Given the description of an element on the screen output the (x, y) to click on. 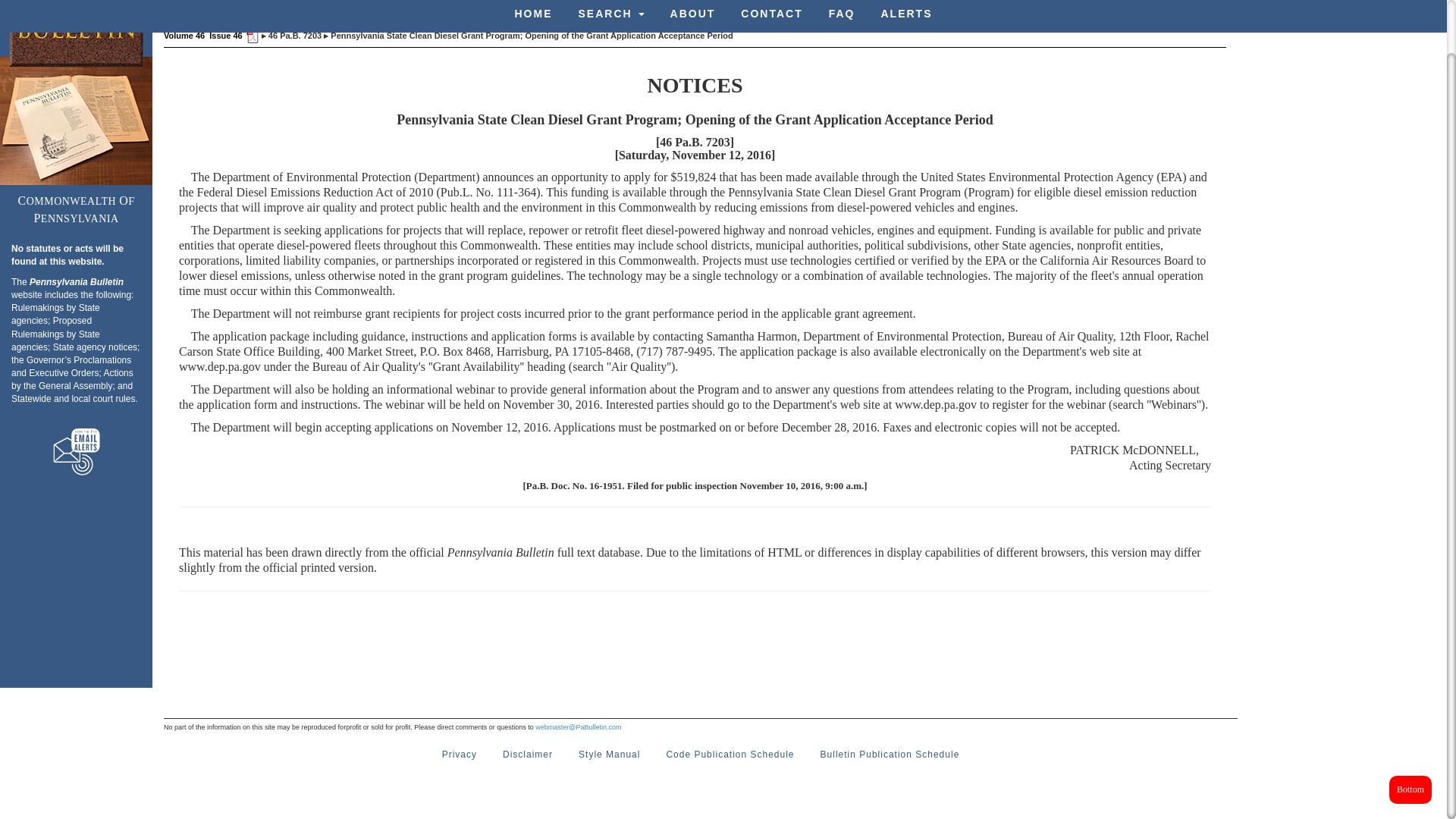
Volume 46  Issue 46 (203, 35)
Return to Search (774, 8)
Return to Search (774, 8)
Disclaimer (528, 754)
Resize Screen (884, 8)
Next Bulletin (705, 8)
Code Publication Schedule (729, 754)
Previous Doc (586, 8)
Next Doc (646, 8)
Next Bulletin (705, 8)
Bottom (1410, 732)
Go to bottom (1410, 732)
Privacy (458, 754)
Style Manual (608, 754)
Print Document (833, 8)
